Given the description of an element on the screen output the (x, y) to click on. 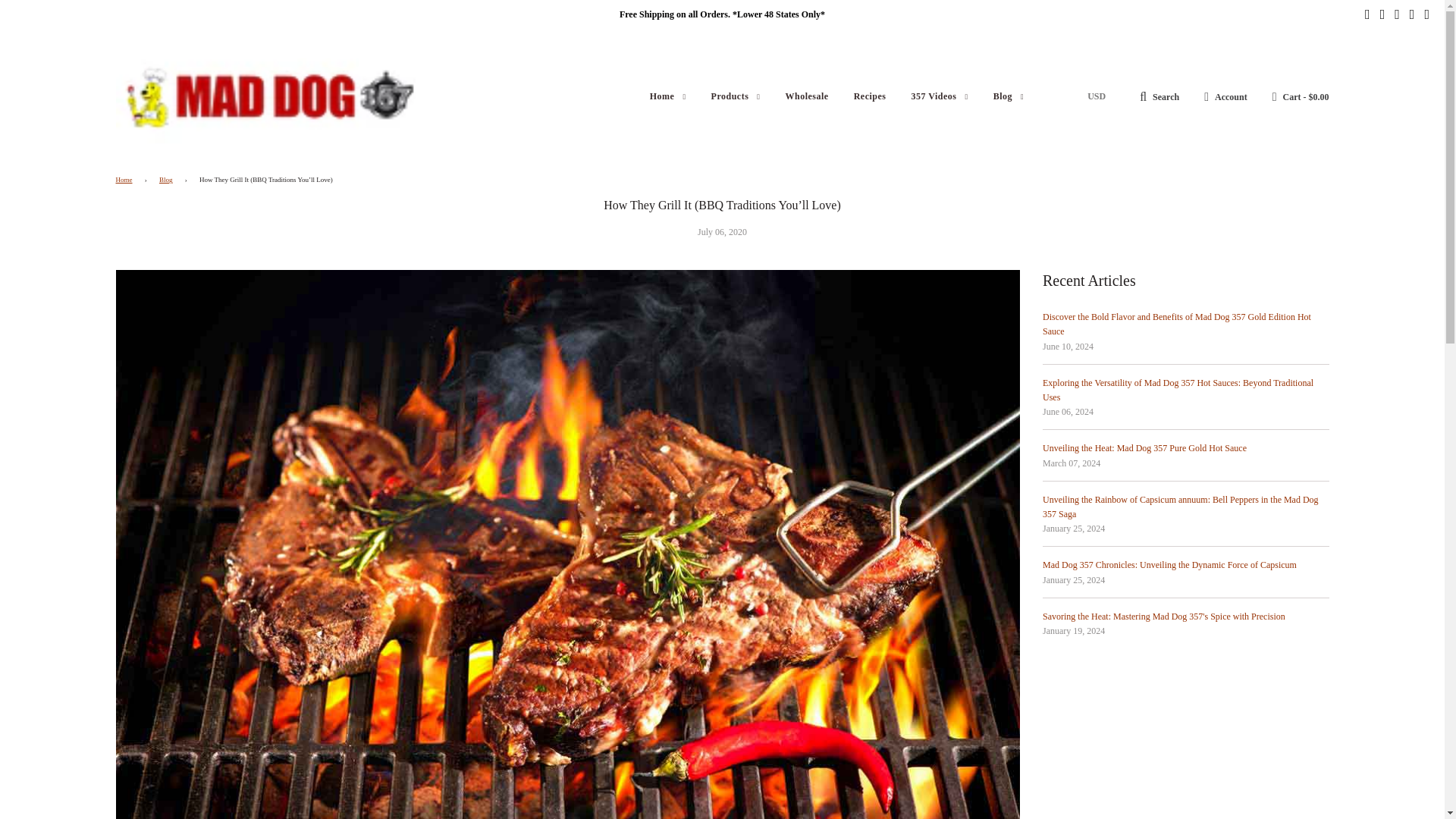
Log in (1225, 95)
Back to the frontpage (125, 179)
